Given the description of an element on the screen output the (x, y) to click on. 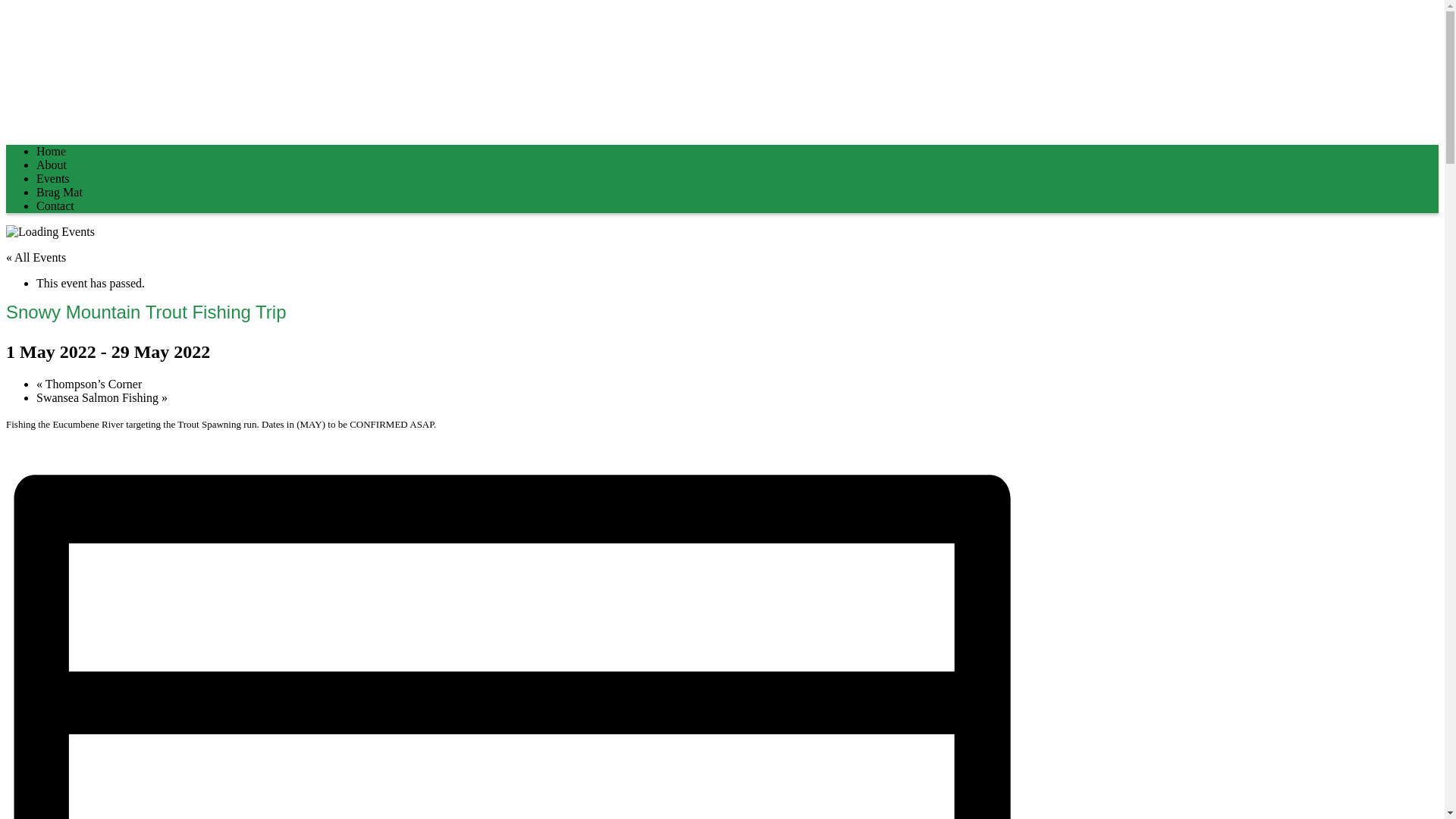
Contact Element type: text (55, 205)
Events Element type: text (52, 178)
Home Element type: text (50, 150)
Brag Mat Element type: text (59, 191)
About Element type: text (51, 164)
